Given the description of an element on the screen output the (x, y) to click on. 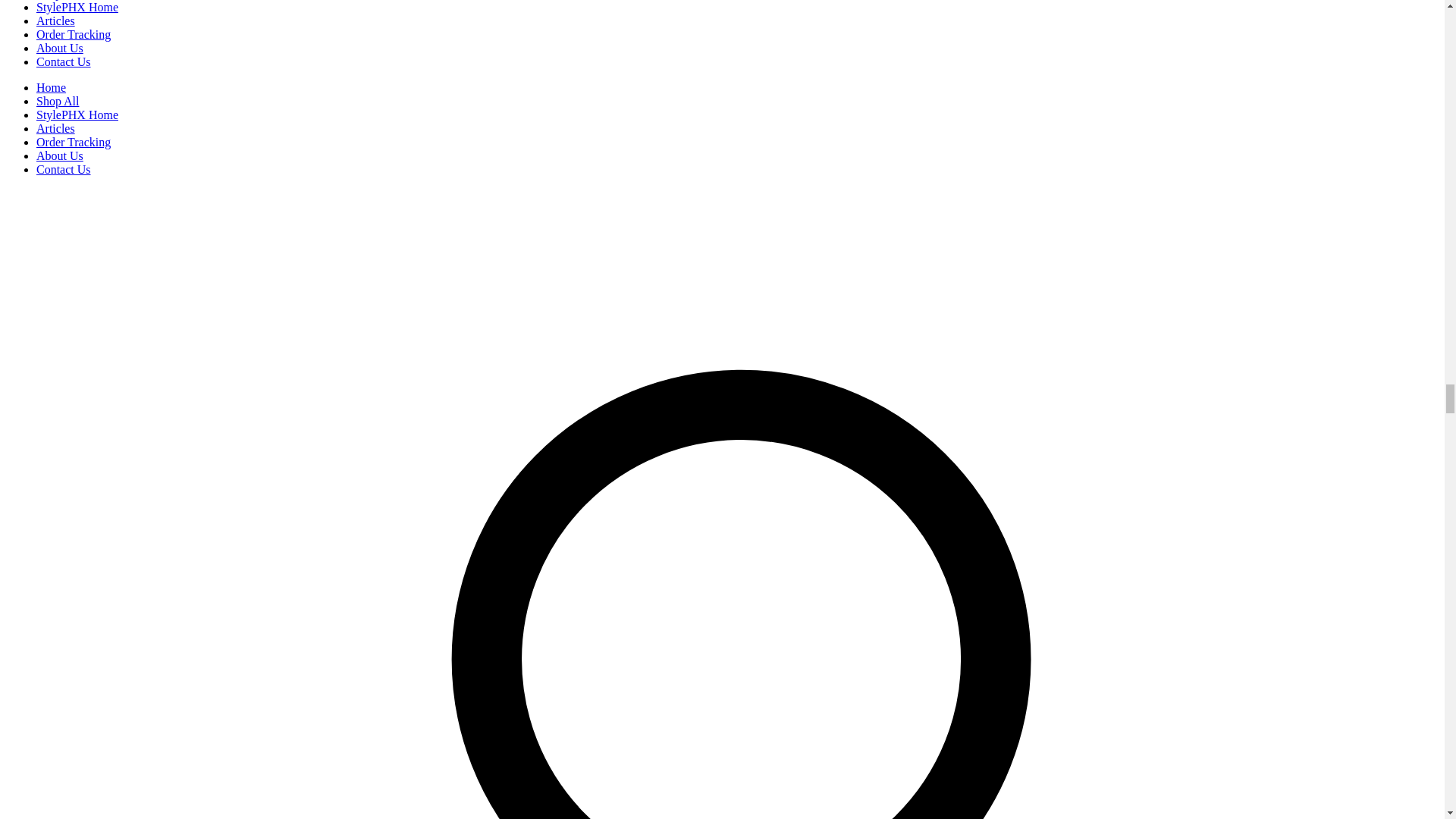
Shop All (57, 101)
Articles (55, 128)
Home (50, 87)
About Us (59, 47)
About Us (59, 155)
Articles (55, 20)
StylePHX Home (76, 114)
Contact Us (63, 169)
Order Tracking (73, 141)
Order Tracking (73, 33)
Contact Us (63, 61)
StylePHX Home (76, 6)
